Given the description of an element on the screen output the (x, y) to click on. 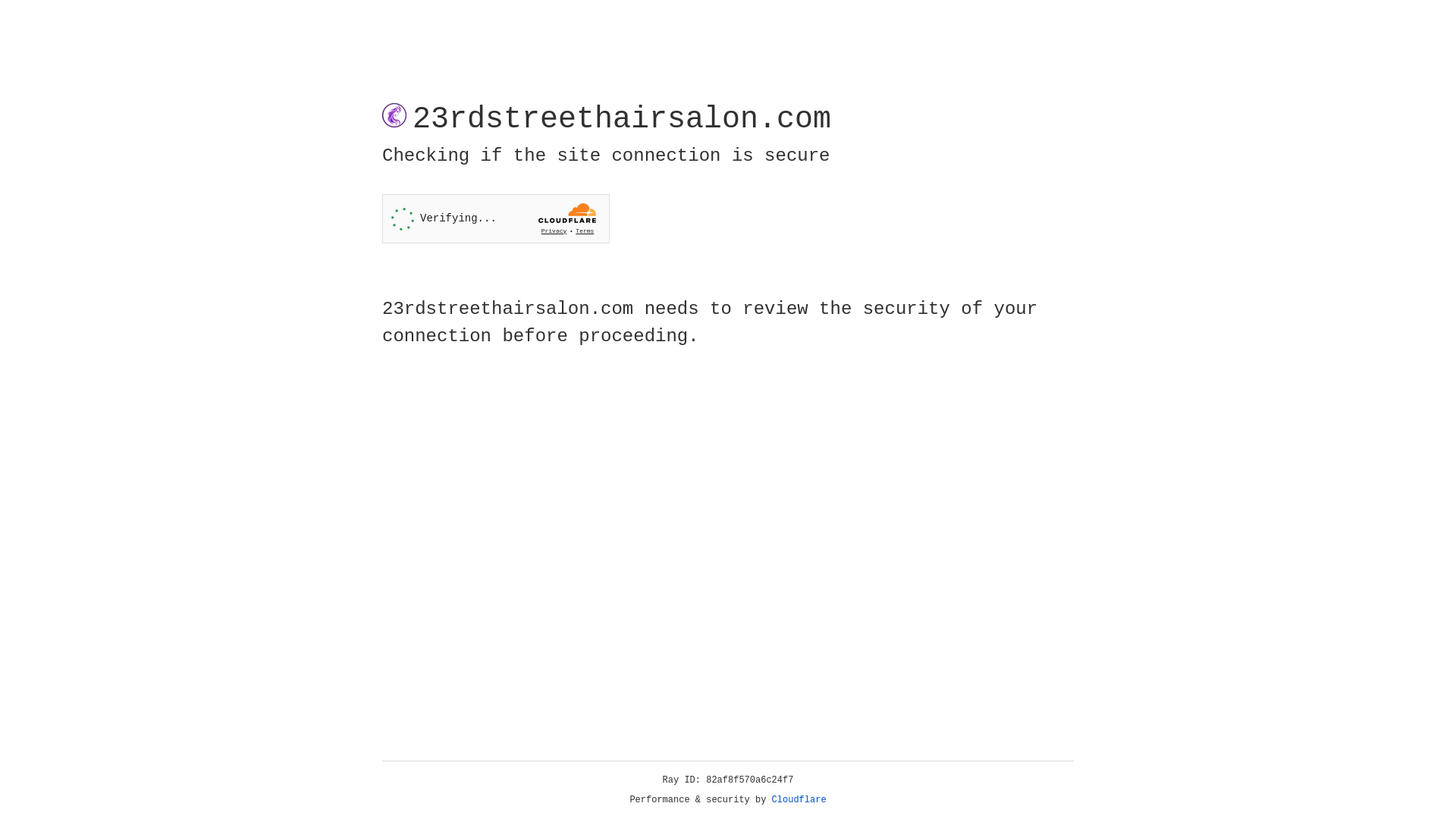
Widget containing a Cloudflare security challenge Element type: hover (495, 218)
Cloudflare Element type: text (798, 799)
